Given the description of an element on the screen output the (x, y) to click on. 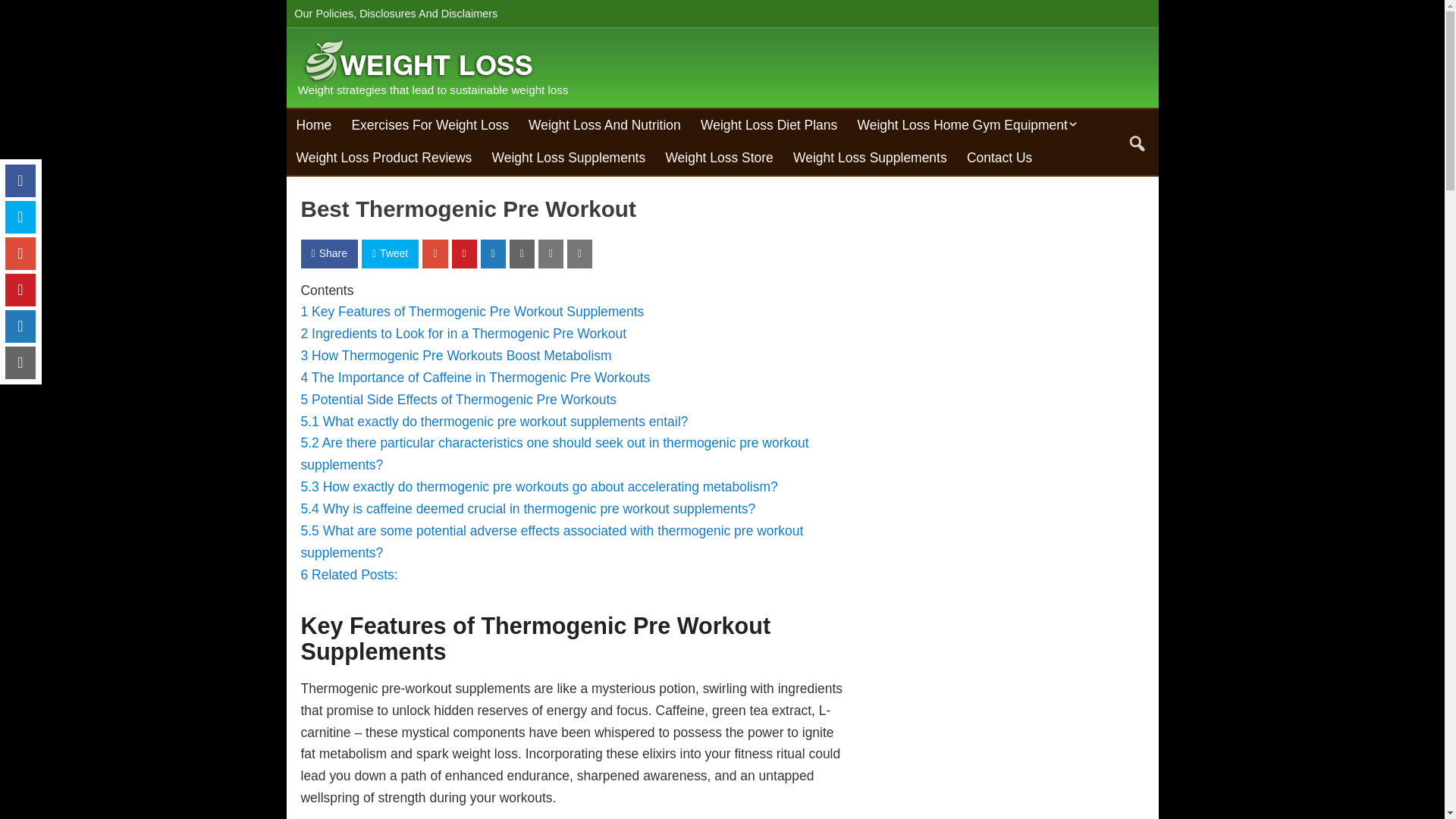
Tweet on Twitter (390, 253)
Share On Google Plus (434, 253)
Share (327, 253)
Contact Us (999, 158)
Weight Loss Diet Plans (768, 125)
Weight Loss Home Gym Equipment (967, 125)
Weight Loss Store (719, 158)
Share On Facebook (19, 180)
Weight Loss Supplements (568, 158)
Home (314, 125)
Share On Linkedin (492, 253)
About (372, 41)
Share On Facebook (327, 253)
Exercises For Weight Loss (429, 125)
Tweet (390, 253)
